Given the description of an element on the screen output the (x, y) to click on. 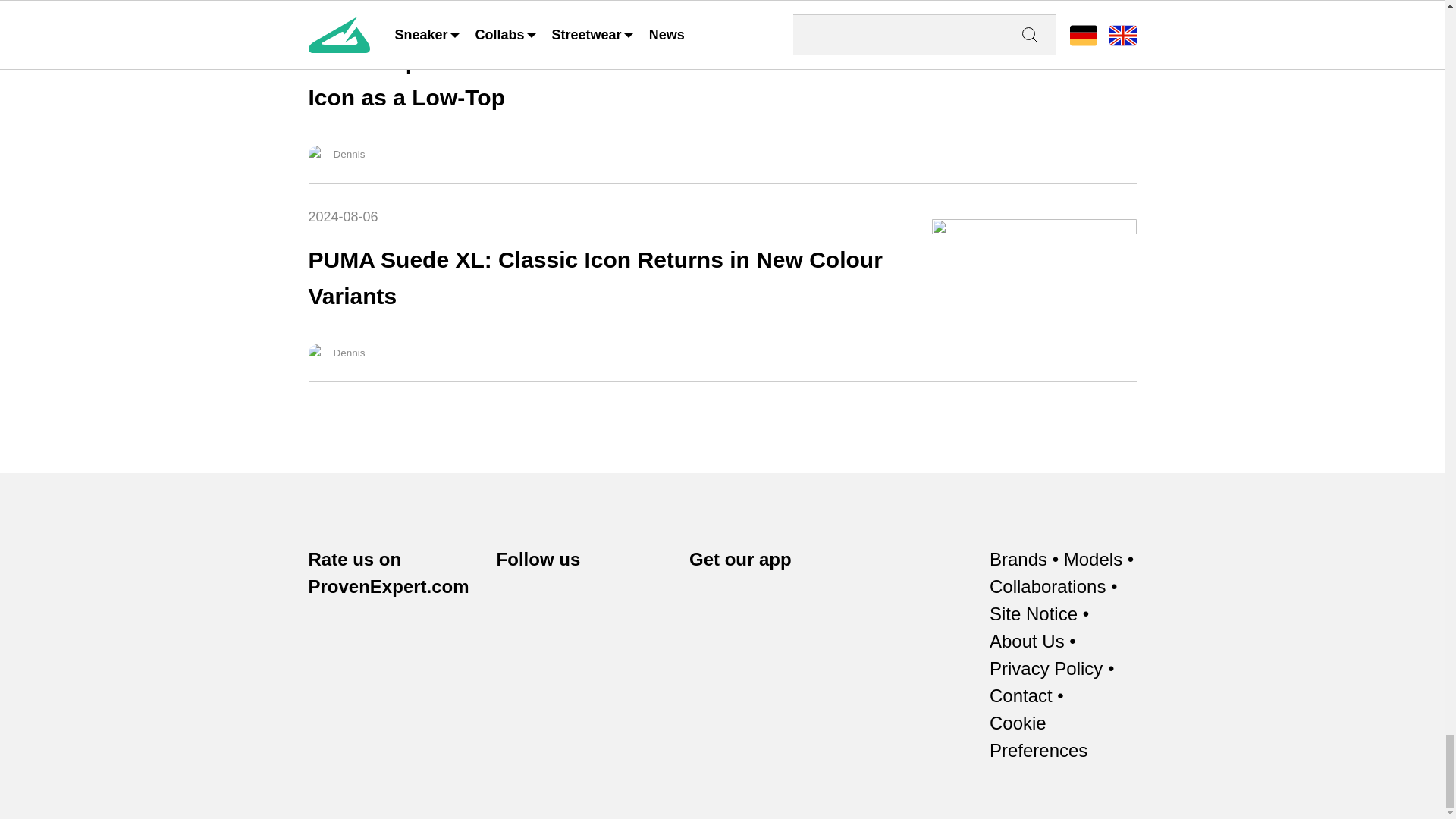
Privacy Policy (1046, 668)
Dennis (316, 154)
Cookie Preferences (1063, 737)
About Us (1027, 641)
Models (1093, 559)
Brands (1018, 559)
Site Notice (1033, 614)
Collaborations (1047, 586)
